Given the description of an element on the screen output the (x, y) to click on. 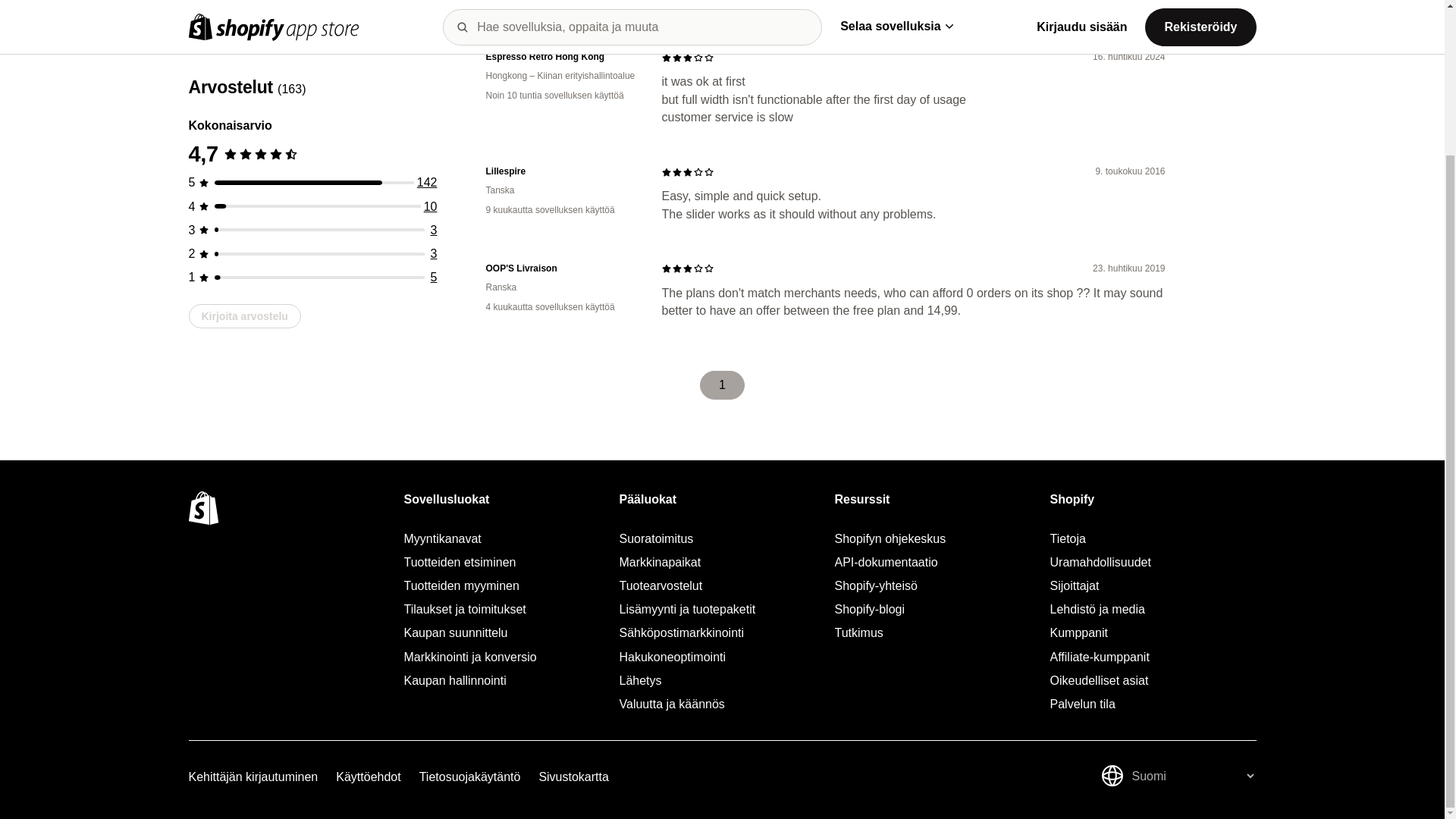
142 (427, 101)
10 (430, 125)
Espresso Retro Hong Kong (560, 56)
Lillespire (560, 171)
OOP'S Livraison (560, 268)
